Given the description of an element on the screen output the (x, y) to click on. 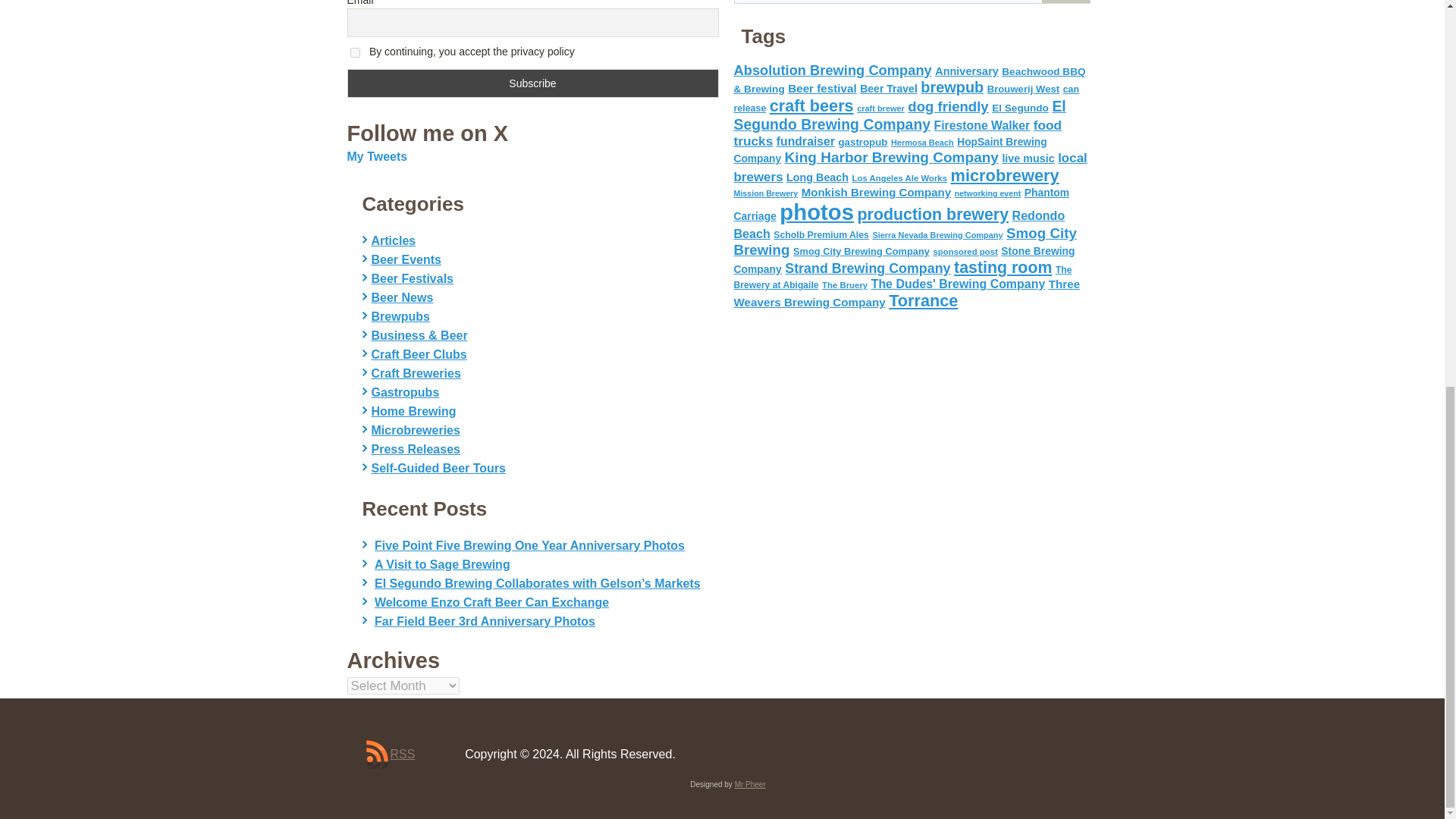
on (354, 52)
Home Brewing (414, 410)
Articles (393, 240)
Brewpubs (400, 316)
My Tweets (377, 155)
Search (1065, 1)
Craft Beer Clubs (419, 354)
Craft Breweries (416, 373)
Subscribe (533, 82)
Search (1065, 1)
